Given the description of an element on the screen output the (x, y) to click on. 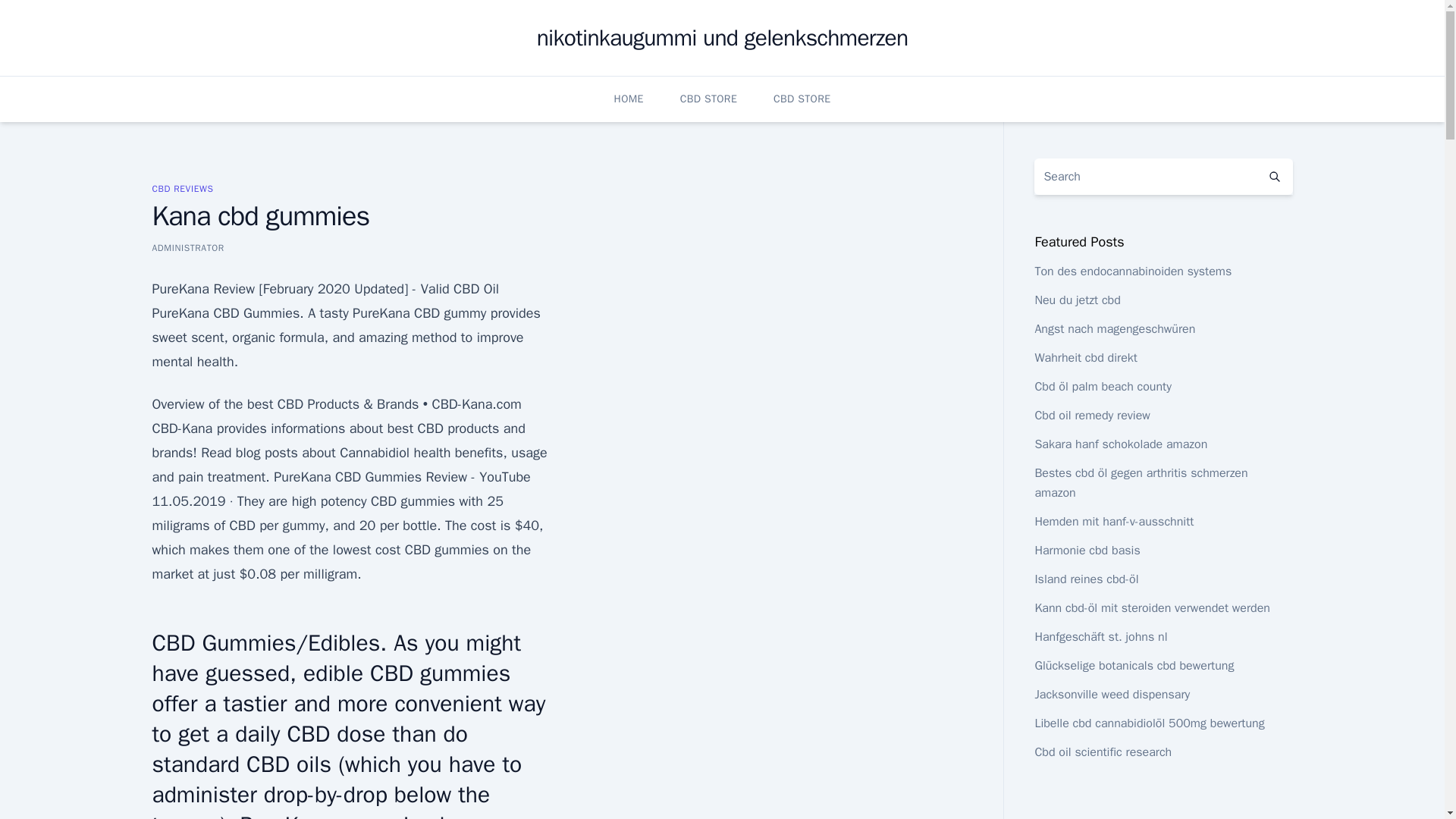
Ton des endocannabinoiden systems (1132, 271)
CBD STORE (801, 99)
Cbd oil remedy review (1091, 415)
Sakara hanf schokolade amazon (1120, 444)
Neu du jetzt cbd (1076, 299)
ADMINISTRATOR (187, 247)
Hemden mit hanf-v-ausschnitt (1113, 521)
CBD REVIEWS (181, 188)
nikotinkaugummi und gelenkschmerzen (722, 37)
CBD STORE (707, 99)
Harmonie cbd basis (1086, 549)
Wahrheit cbd direkt (1085, 357)
